Given the description of an element on the screen output the (x, y) to click on. 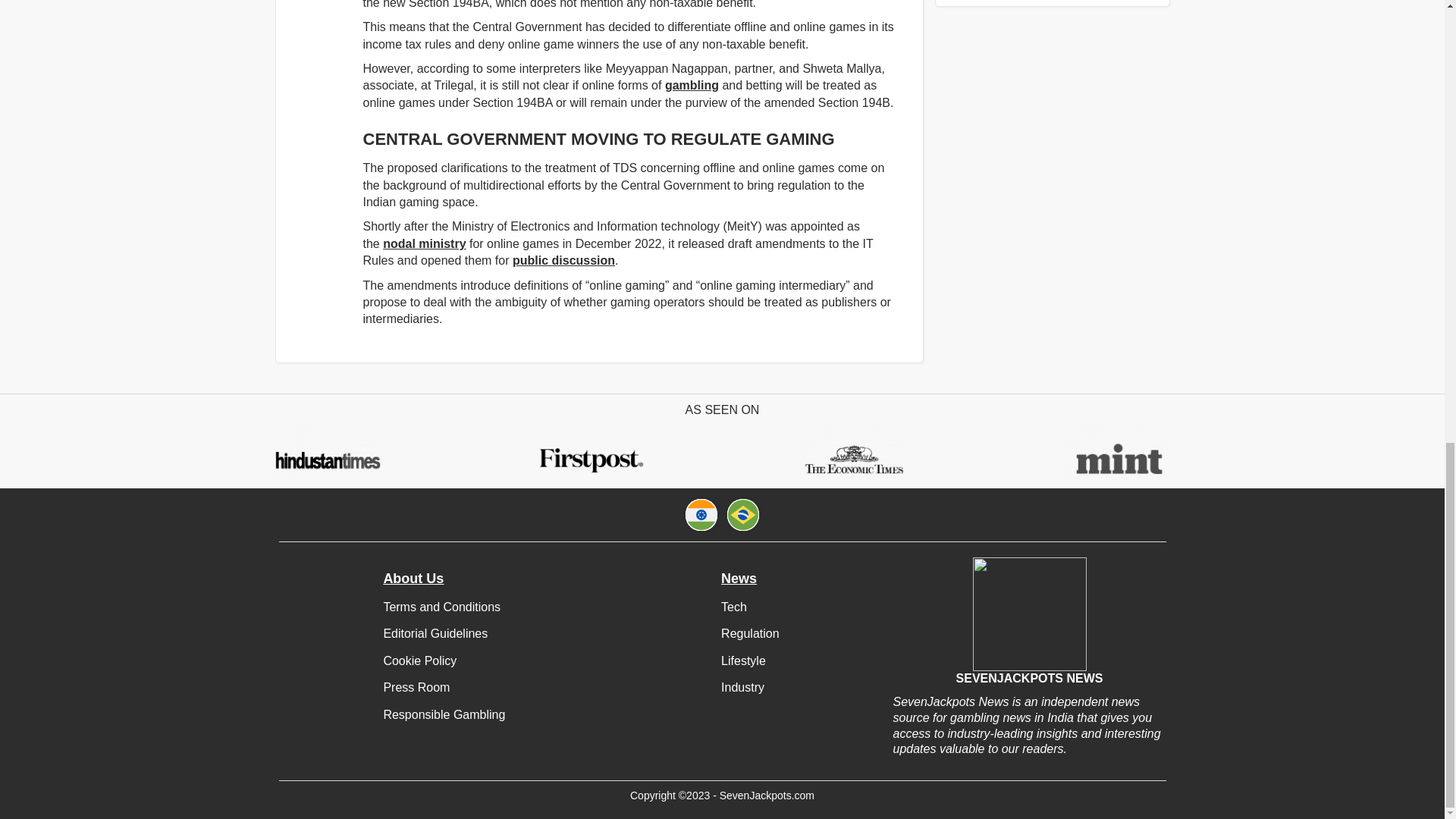
Responsible Gambling (443, 714)
Press Room (415, 687)
gambling (692, 84)
Terms and Conditions (441, 606)
nodal ministry (423, 243)
Cookie Policy (419, 660)
public discussion (563, 259)
About Us (413, 578)
Editorial Guidelines (434, 633)
